Given the description of an element on the screen output the (x, y) to click on. 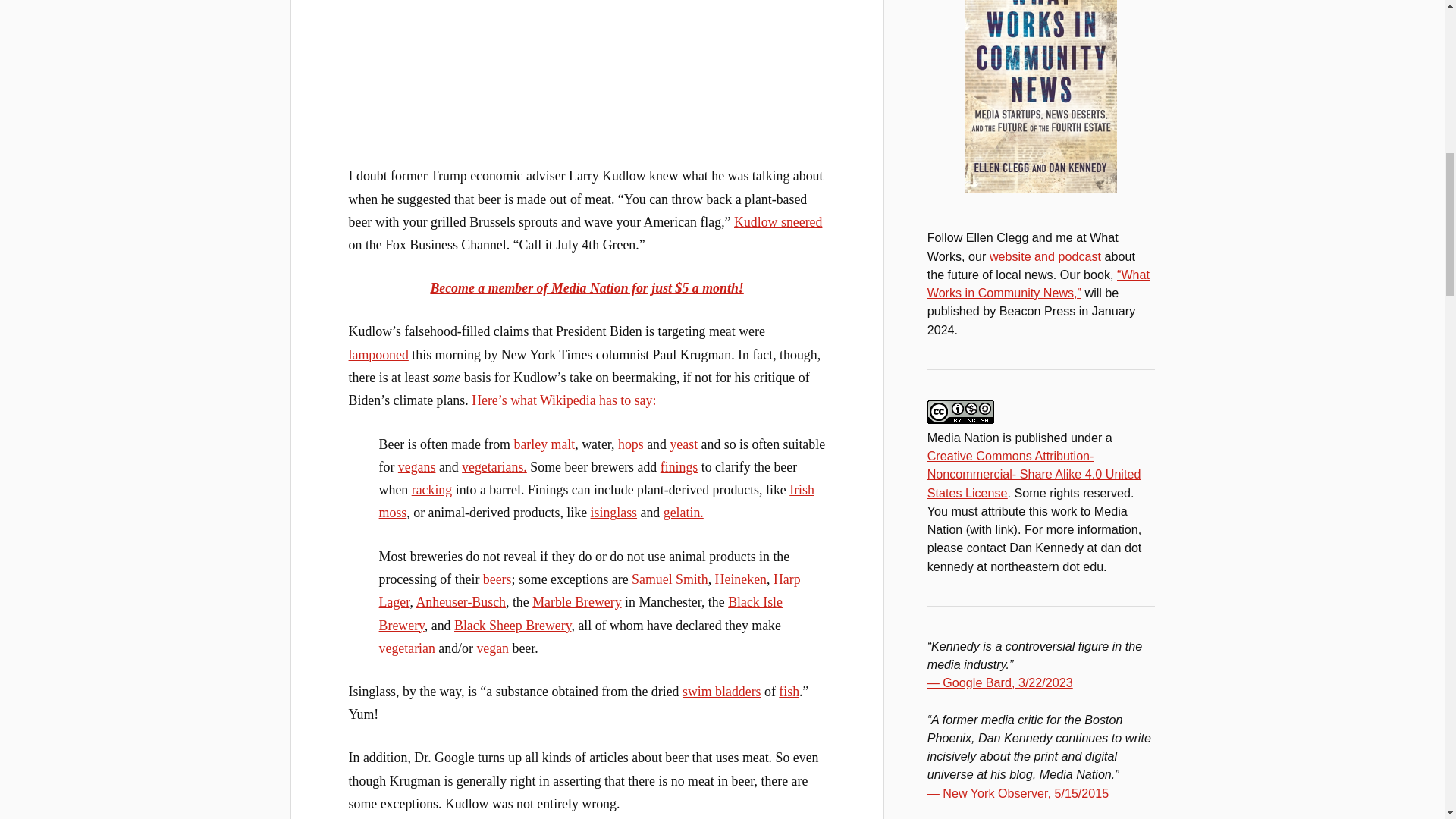
Vegetarianism (494, 467)
Racking (432, 489)
Isinglass (614, 512)
Beer (497, 579)
Veganism (416, 467)
Finings (679, 467)
Chondrus crispus (595, 501)
Malt (563, 444)
lampooned (379, 354)
Brewers yeast (683, 444)
Hops (630, 444)
Barley (530, 444)
Samuel Smith Brewery (669, 579)
Gelatin (683, 512)
Fawlty Towers: Volunteering to get some meat (587, 68)
